Given the description of an element on the screen output the (x, y) to click on. 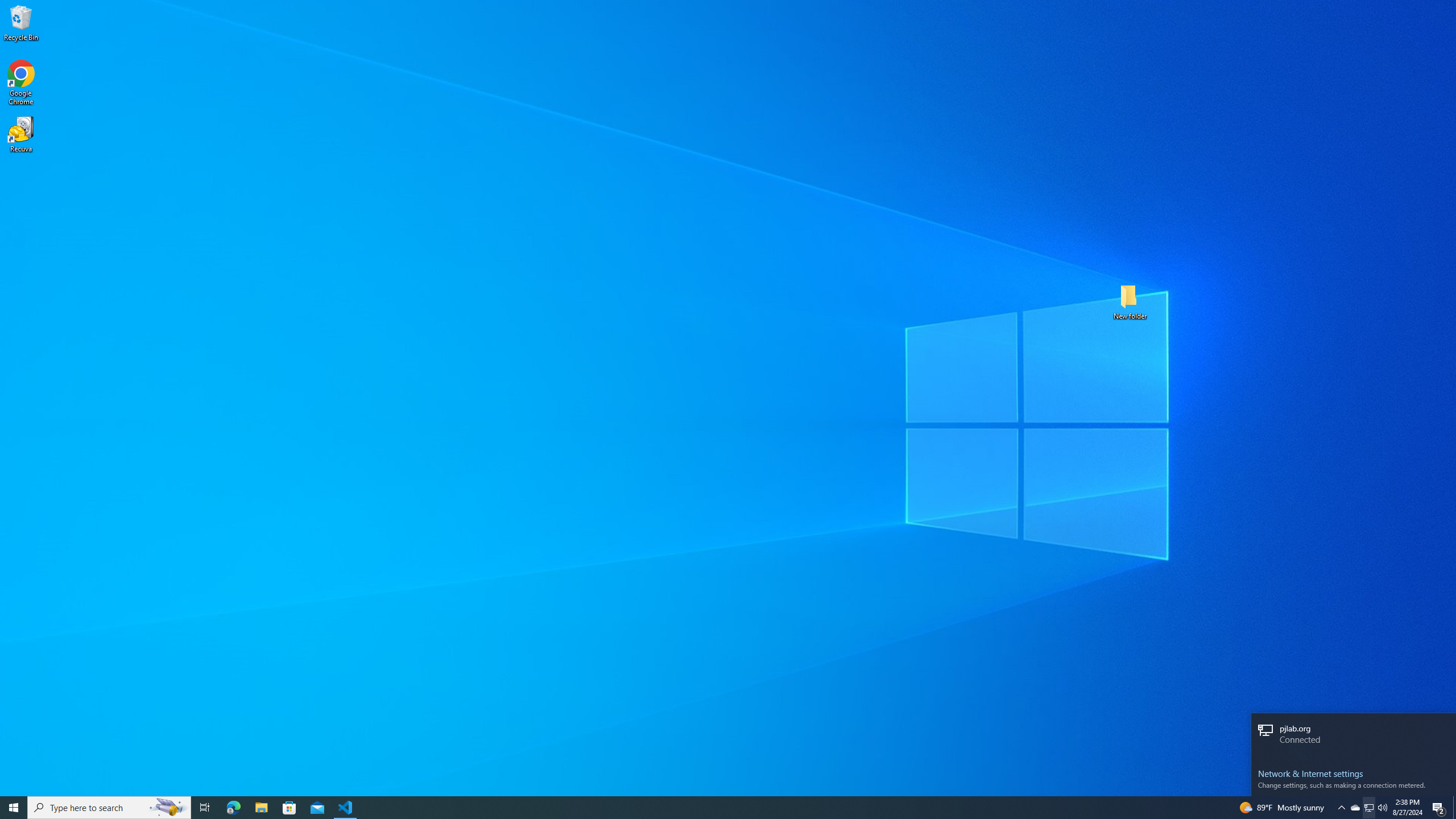
Running applications (717, 807)
pjlab.org Connected (1353, 735)
Network & Internet settings (1352, 773)
